Given the description of an element on the screen output the (x, y) to click on. 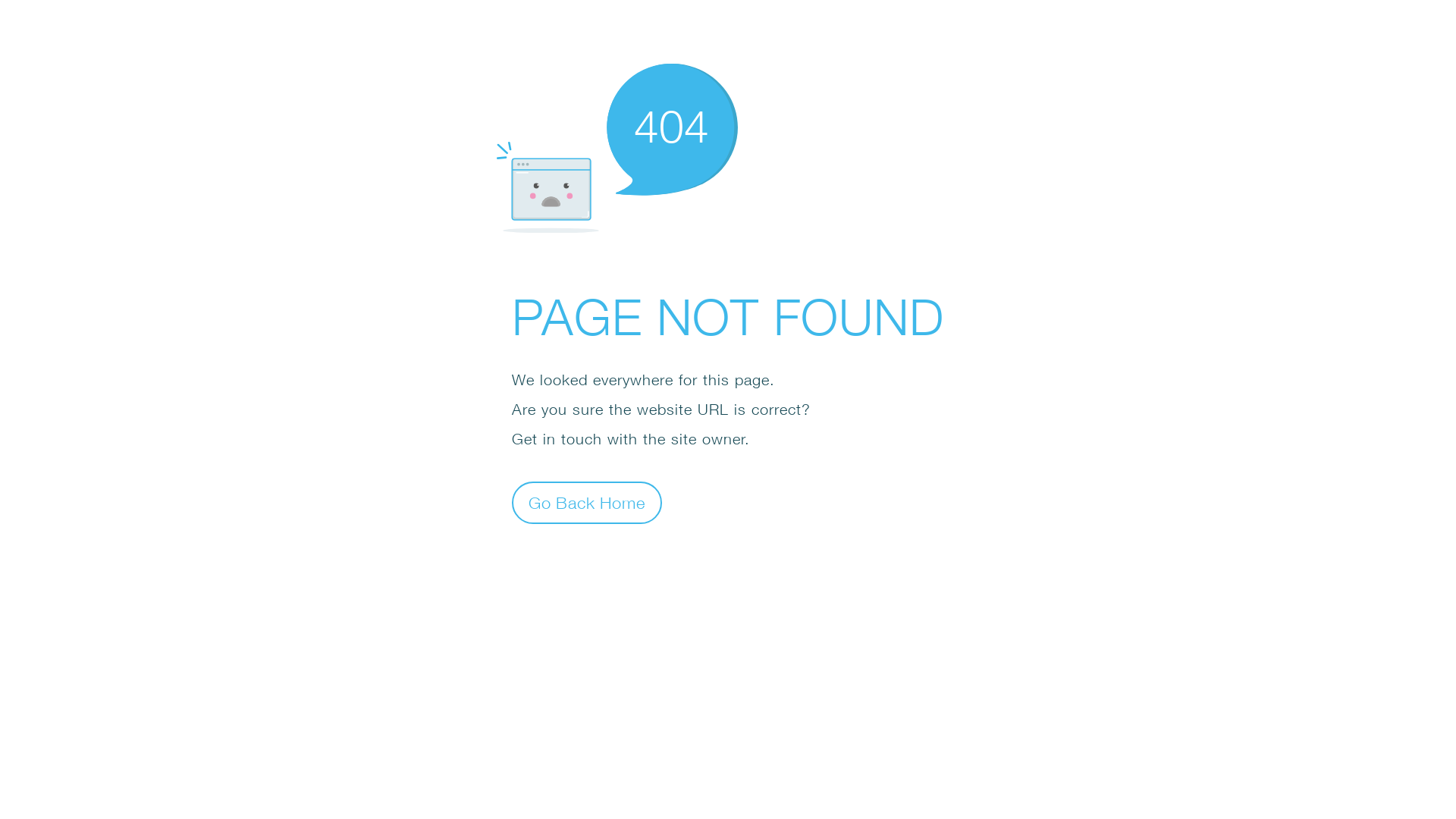
Go Back Home Element type: text (586, 502)
